Given the description of an element on the screen output the (x, y) to click on. 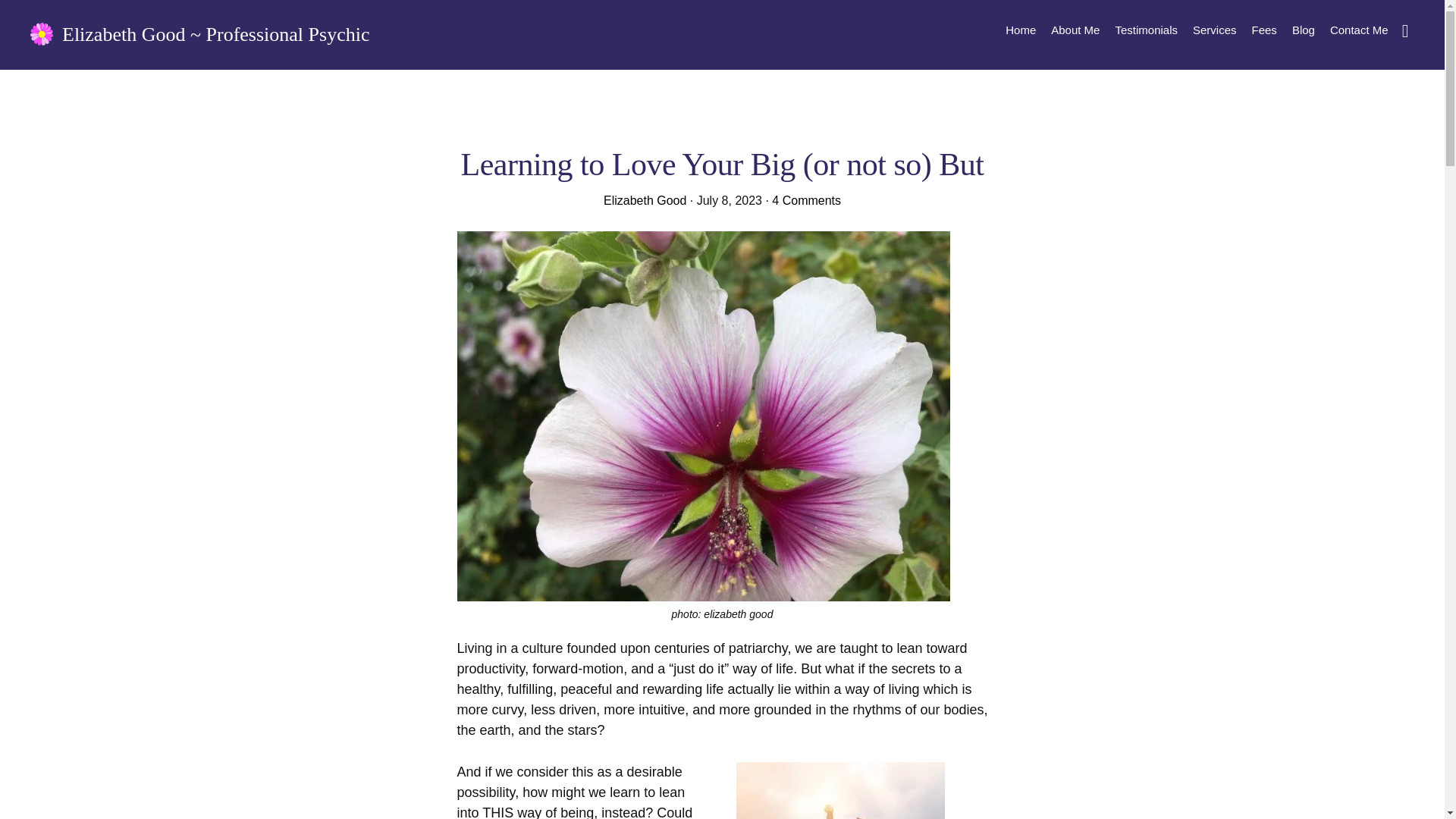
Services (1214, 29)
Fees (1264, 29)
4 Comments (806, 200)
Contact Me (1359, 29)
Blog (1303, 29)
About Me (1074, 29)
Testimonials (1145, 29)
Elizabeth Good (644, 200)
Home (1020, 29)
